Given the description of an element on the screen output the (x, y) to click on. 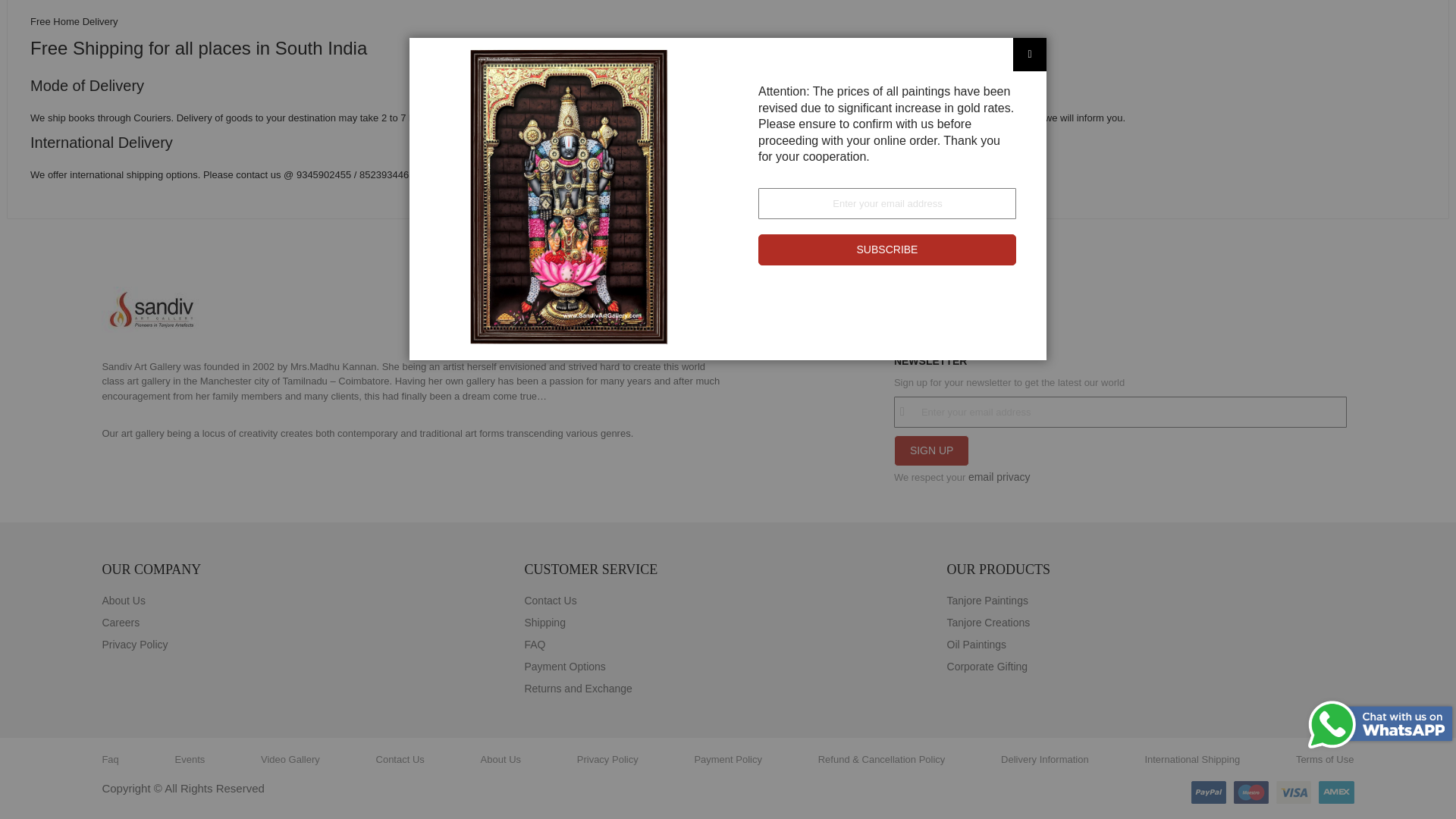
Sign Up (931, 450)
Subscribe (887, 22)
